Given the description of an element on the screen output the (x, y) to click on. 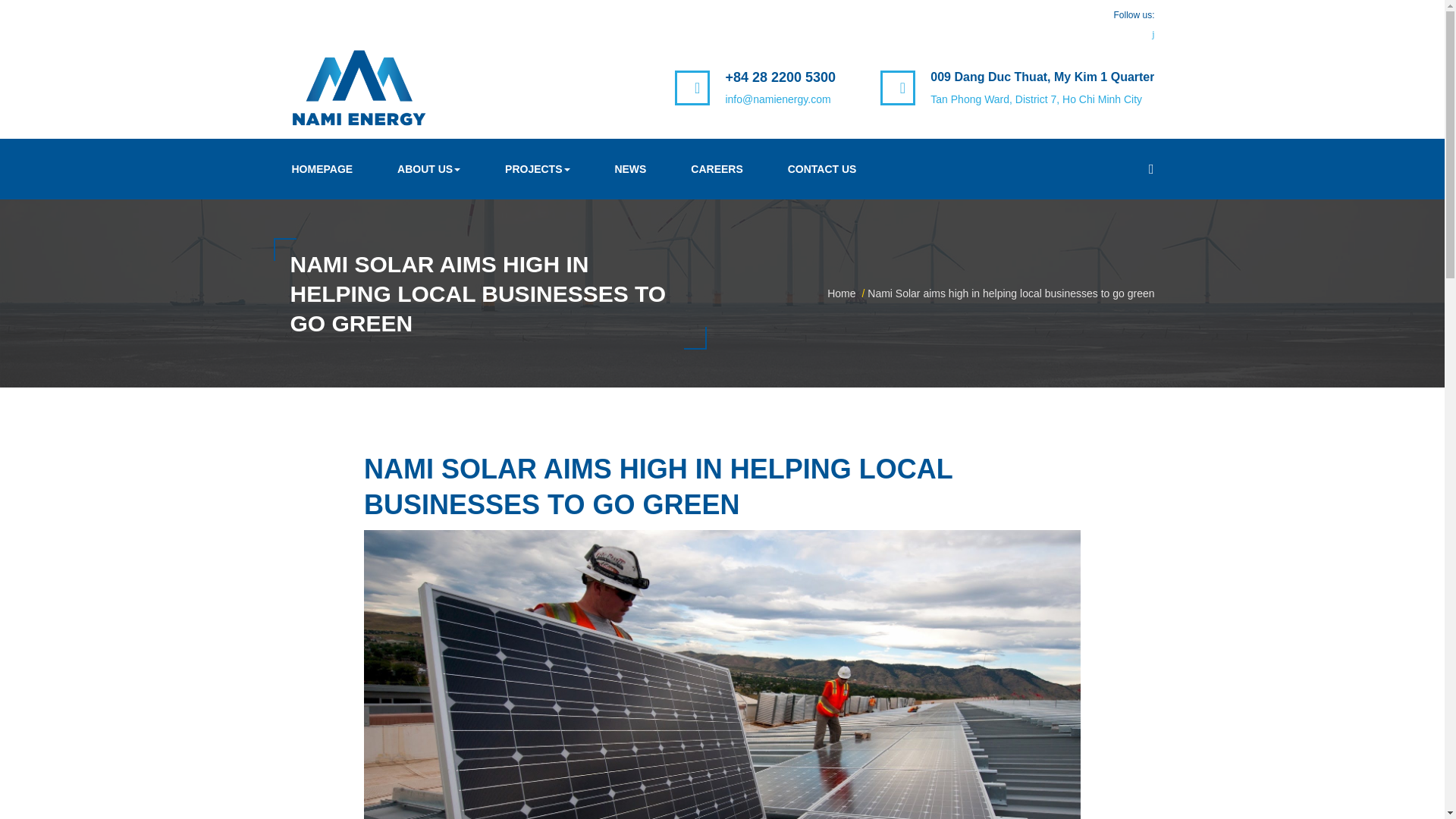
NEWS (630, 168)
HOMEPAGE (322, 168)
CONTACT US (822, 168)
CAREERS (716, 168)
Home (841, 293)
PROJECTS (537, 168)
ABOUT US (429, 168)
